Given the description of an element on the screen output the (x, y) to click on. 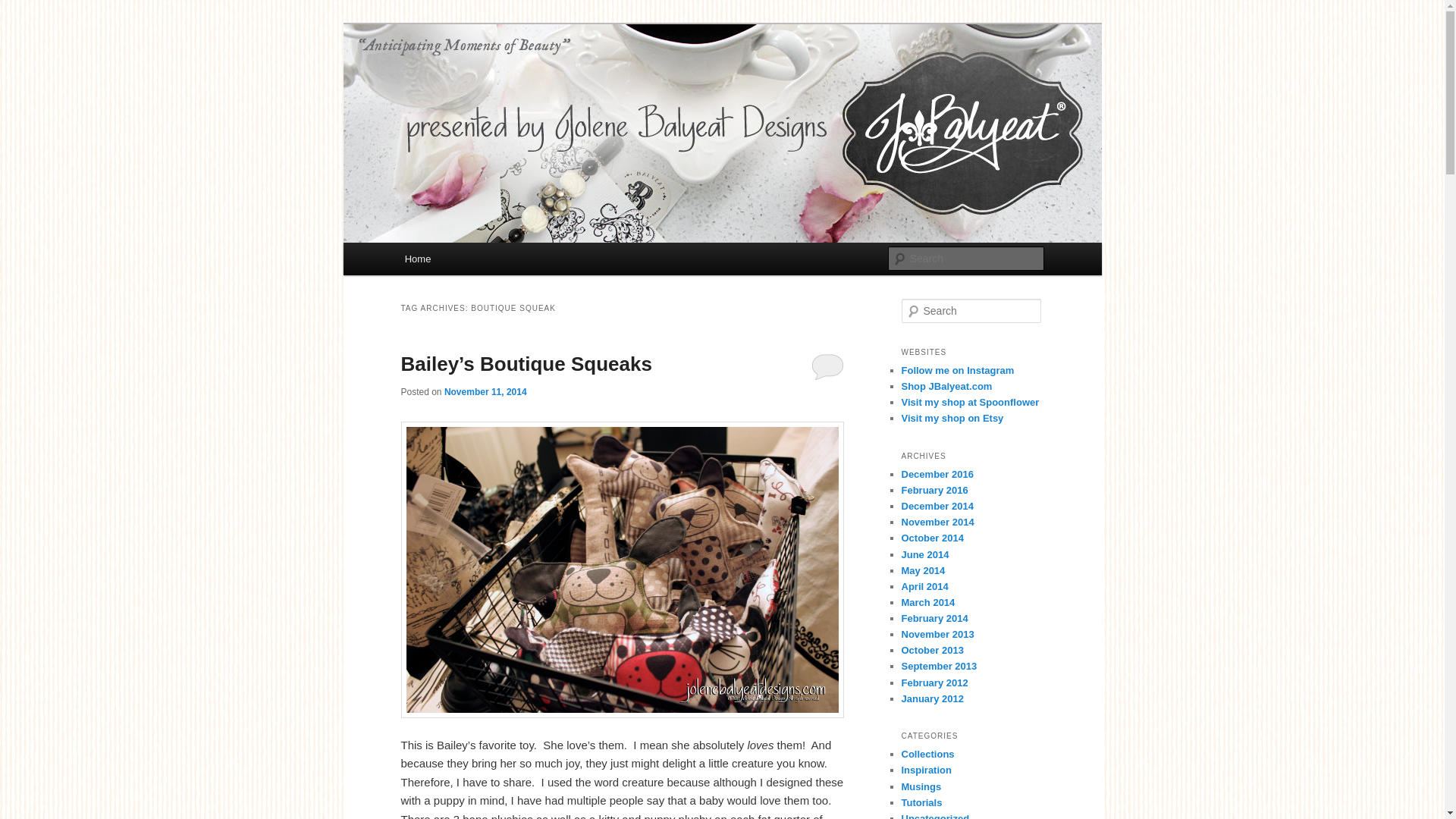
Jolene Balyeat Designs (526, 78)
Follow me on Instagram (957, 369)
Search (21, 11)
See Fabric at Spoonflower (970, 401)
Visit JBalyeat.com (946, 386)
Search (24, 8)
Instagram (957, 369)
Visit my shop at Spoonflower (970, 401)
November 11, 2014 (485, 391)
Home (417, 258)
Shop JBalyeat.com (946, 386)
See creations on Etsy (952, 418)
12:00 PM (485, 391)
